Given the description of an element on the screen output the (x, y) to click on. 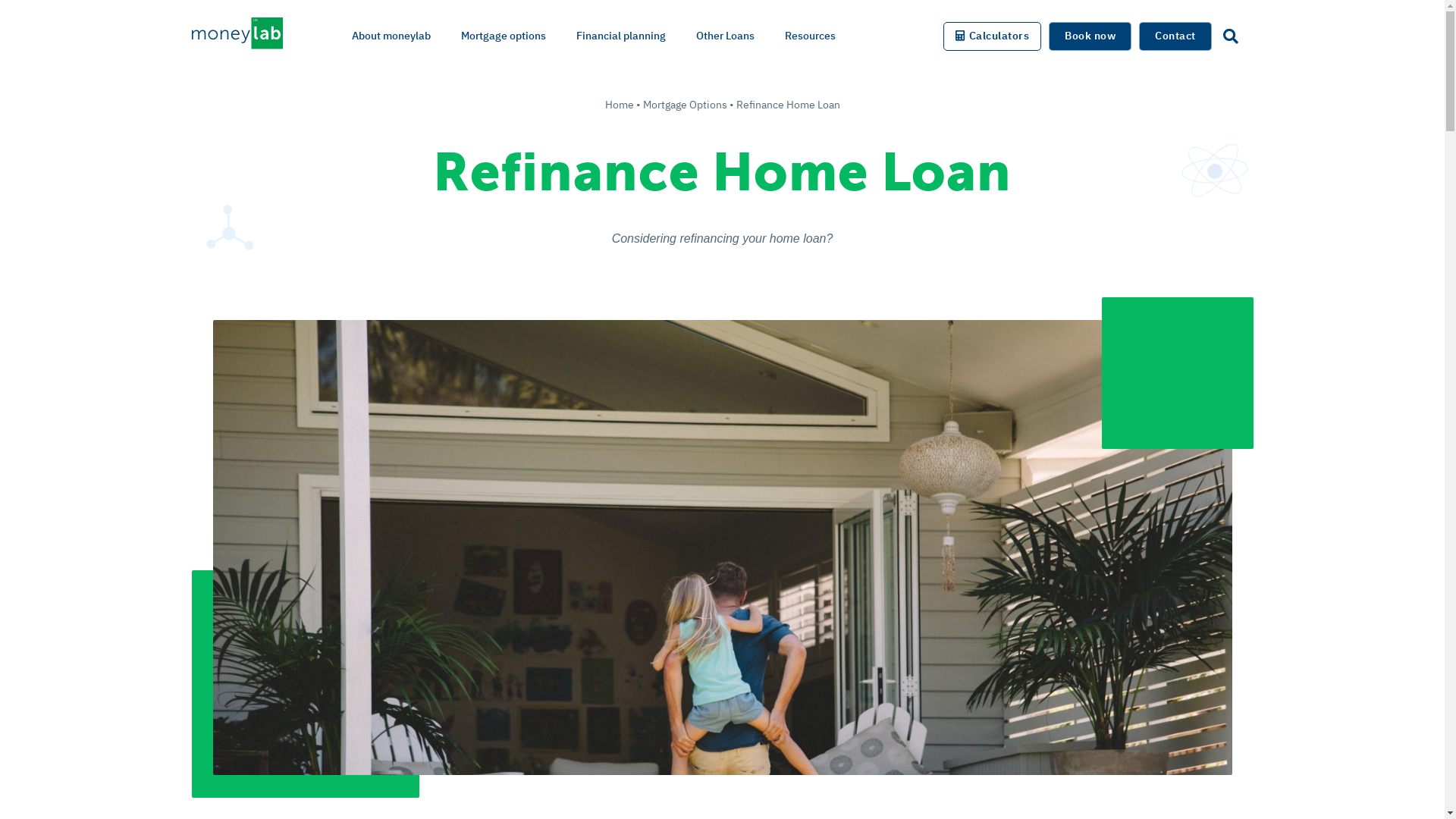
Home Element type: text (619, 104)
Book now Element type: text (1089, 35)
Contact Element type: text (1175, 35)
Resources Element type: text (809, 36)
Other Loans Element type: text (724, 36)
Mortgage options Element type: text (503, 36)
Mortgage Options Element type: text (685, 104)
About moneylab Element type: text (390, 36)
Calculators Element type: text (992, 35)
Financial planning Element type: text (620, 36)
